Given the description of an element on the screen output the (x, y) to click on. 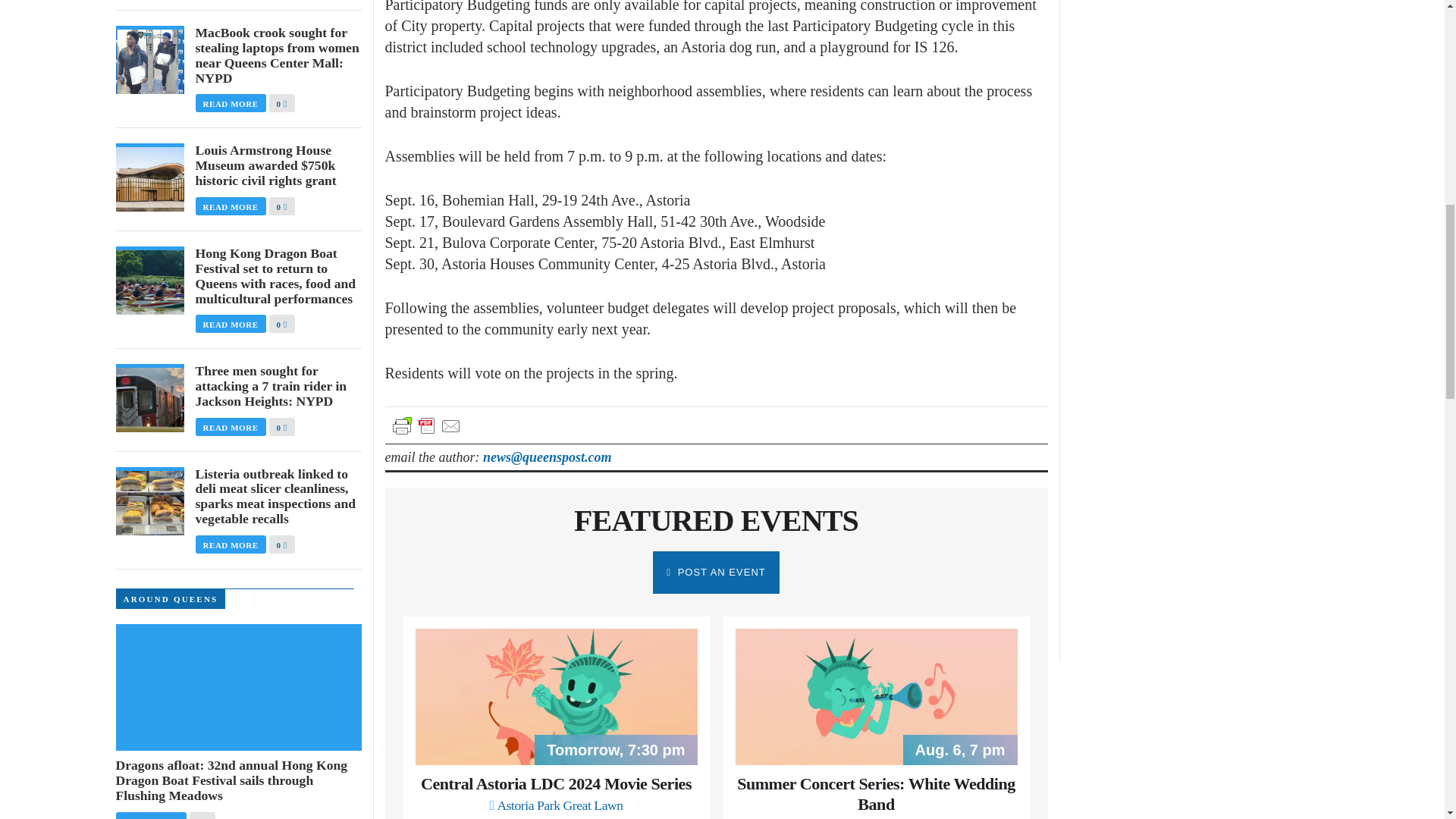
FEATURED EVENTS (716, 520)
POST AN EVENT (715, 572)
